Given the description of an element on the screen output the (x, y) to click on. 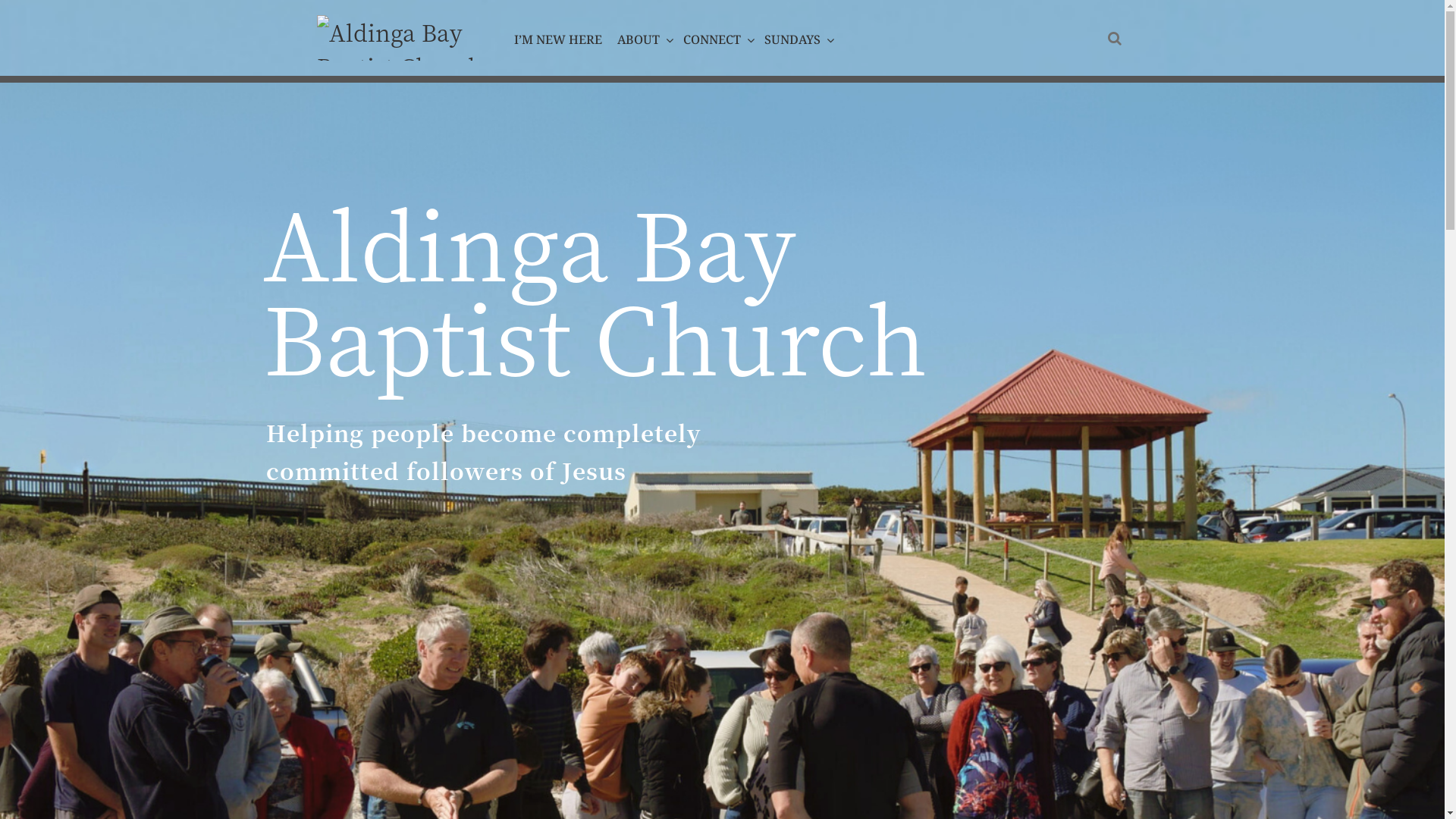
SUNDAYS Element type: text (796, 39)
CONNECT Element type: text (716, 39)
ABOUT Element type: text (642, 39)
